Given the description of an element on the screen output the (x, y) to click on. 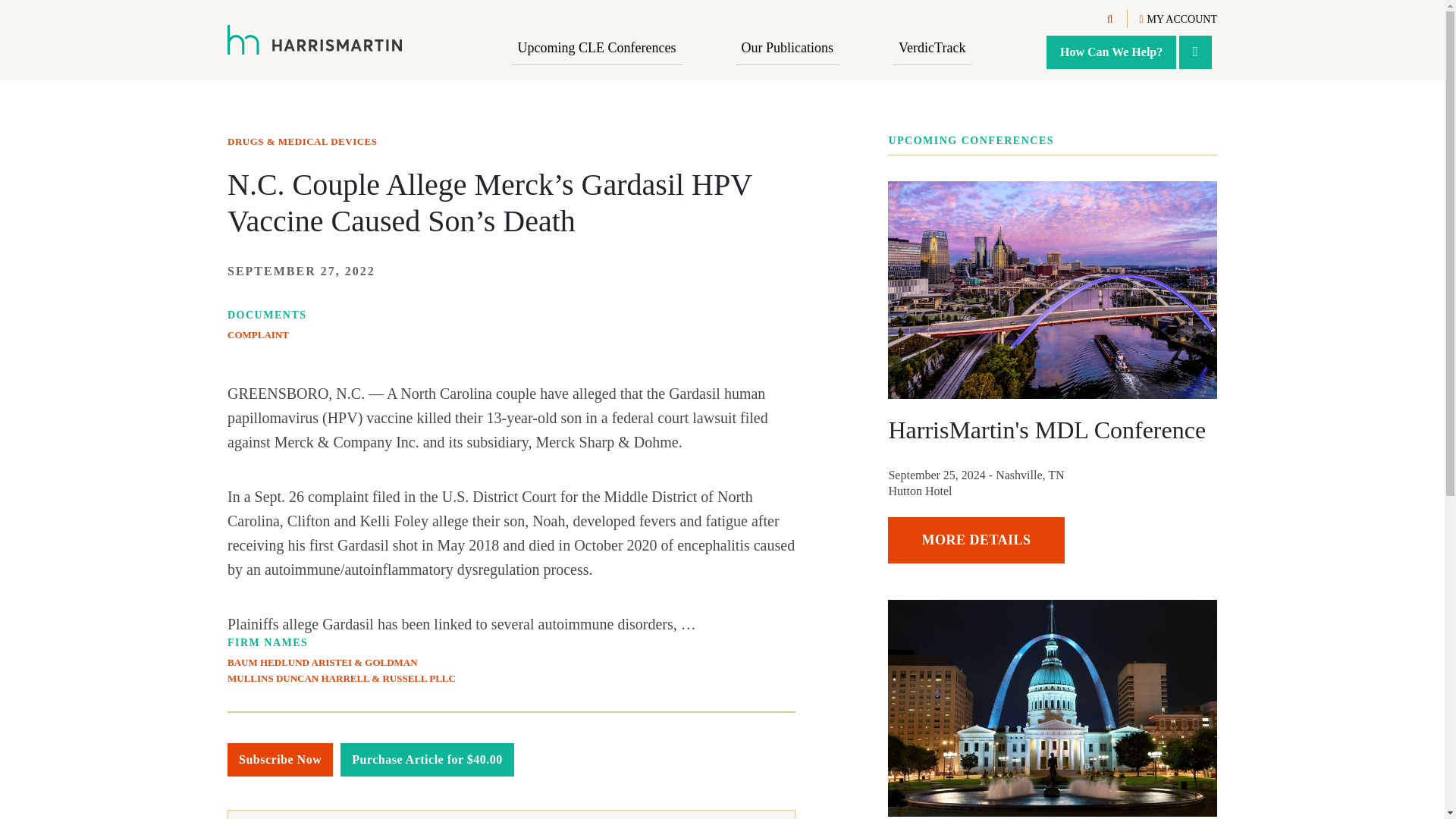
MORE DETAILS (976, 539)
How Can We Help? (1111, 52)
Upcoming CLE Conferences (597, 48)
Our Publications (787, 48)
MY ACCOUNT (1177, 19)
VerdicTrack (931, 48)
Subscribe Now (280, 759)
